Given the description of an element on the screen output the (x, y) to click on. 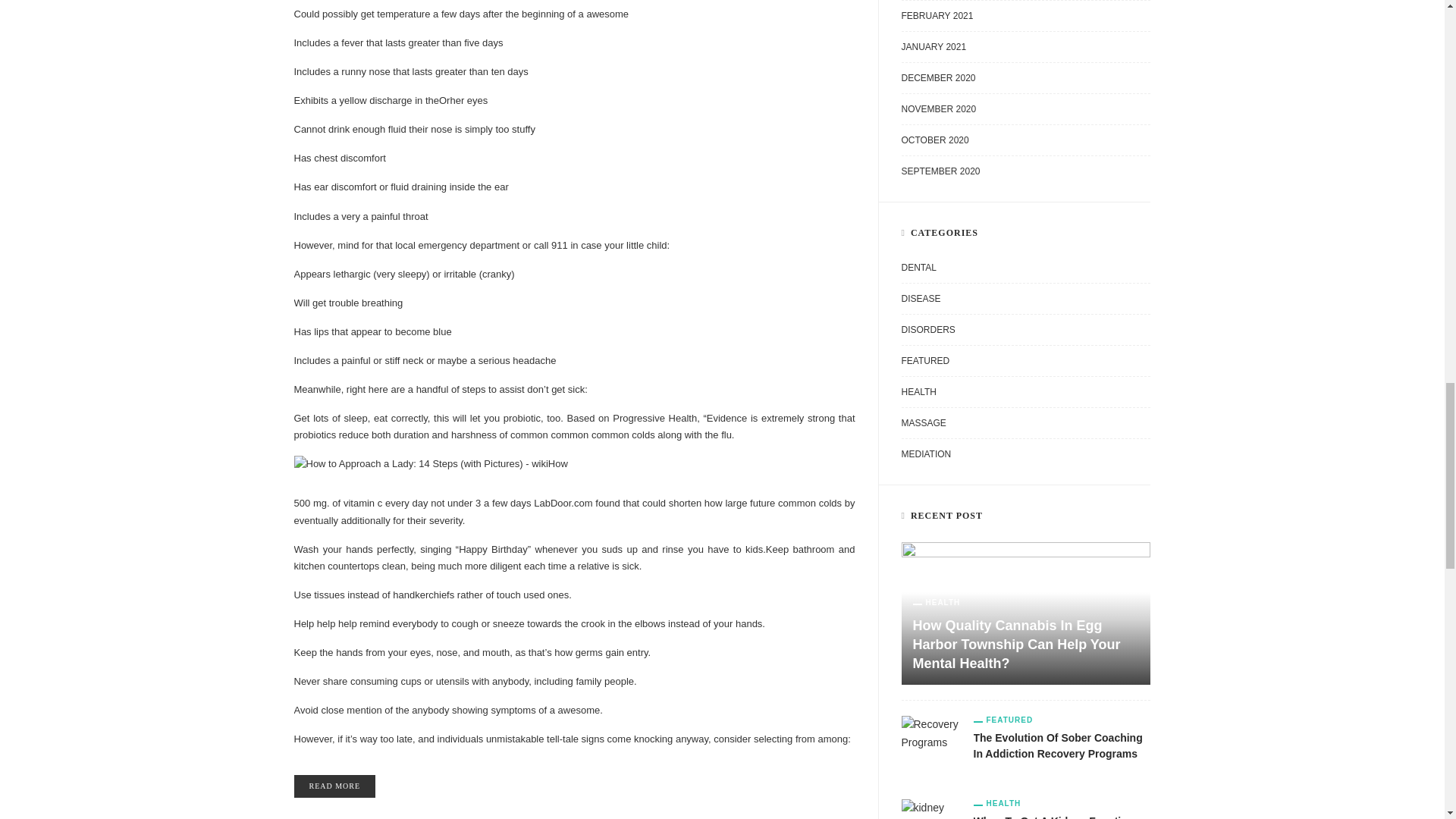
Health (998, 803)
Health (936, 602)
Approaches for Going and With popular Cold (334, 785)
Featured (1003, 719)
